Given the description of an element on the screen output the (x, y) to click on. 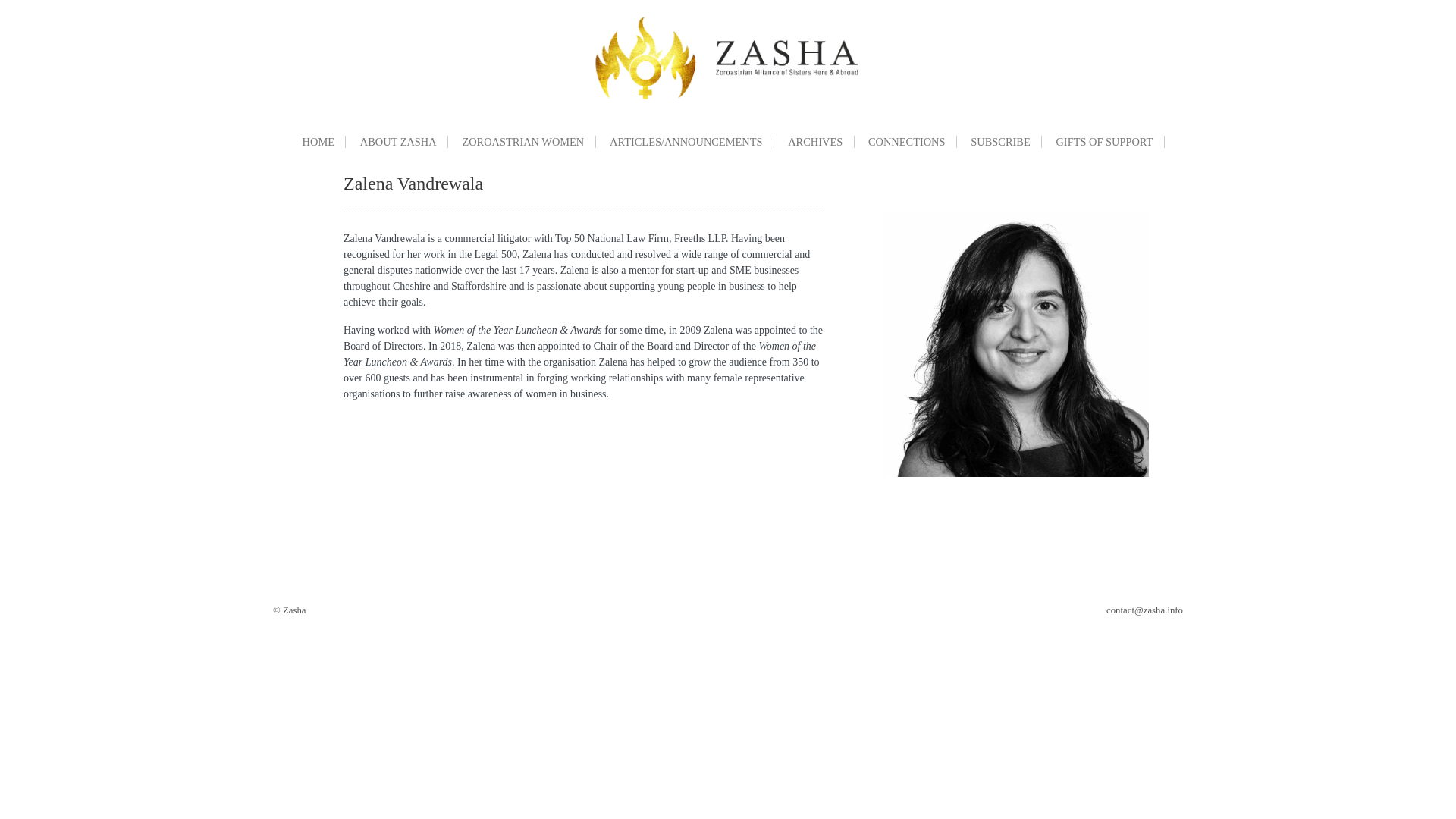
GIFTS OF SUPPORT (1104, 141)
CONNECTIONS (906, 141)
ABOUT ZASHA (398, 141)
ZOROASTRIAN WOMEN (523, 141)
HOME (318, 141)
ARCHIVES (815, 141)
SUBSCRIBE (1000, 141)
